Given the description of an element on the screen output the (x, y) to click on. 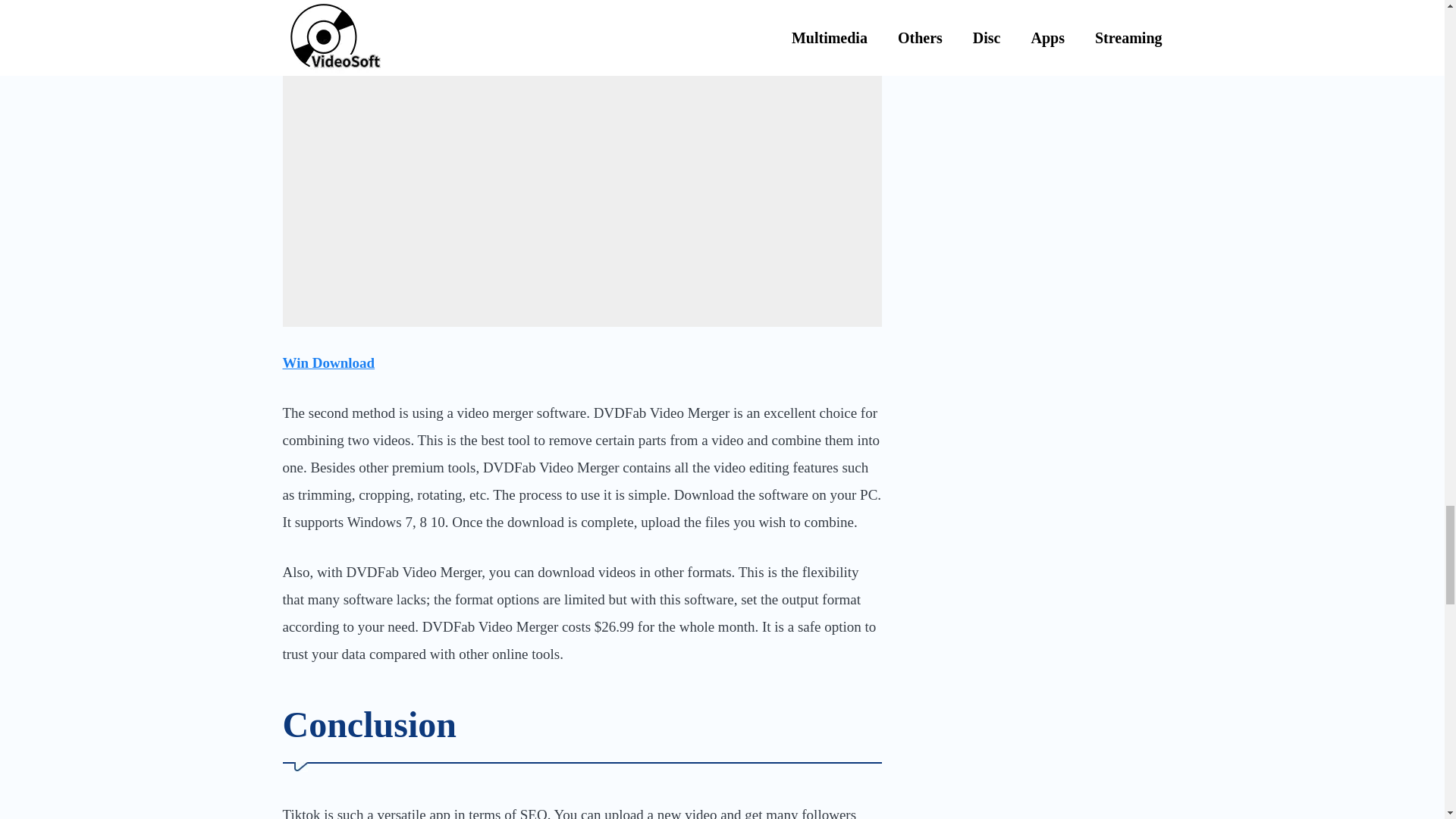
Win Download (328, 362)
